Given the description of an element on the screen output the (x, y) to click on. 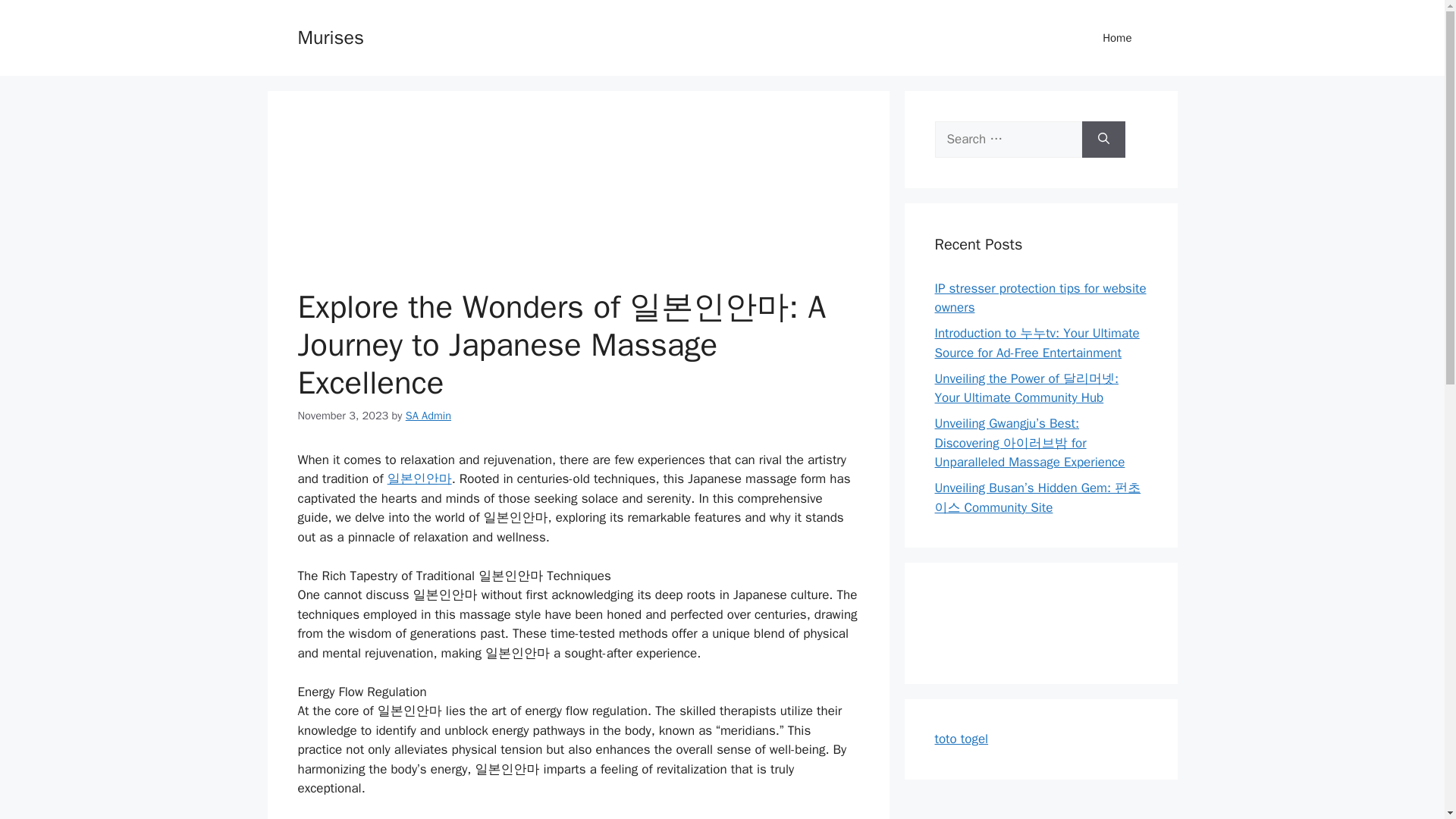
IP stresser protection tips for website owners (1039, 298)
View all posts by SA Admin (428, 415)
SA Admin (428, 415)
toto togel (961, 738)
Murises (329, 37)
Home (1117, 37)
Search for: (1007, 139)
